Given the description of an element on the screen output the (x, y) to click on. 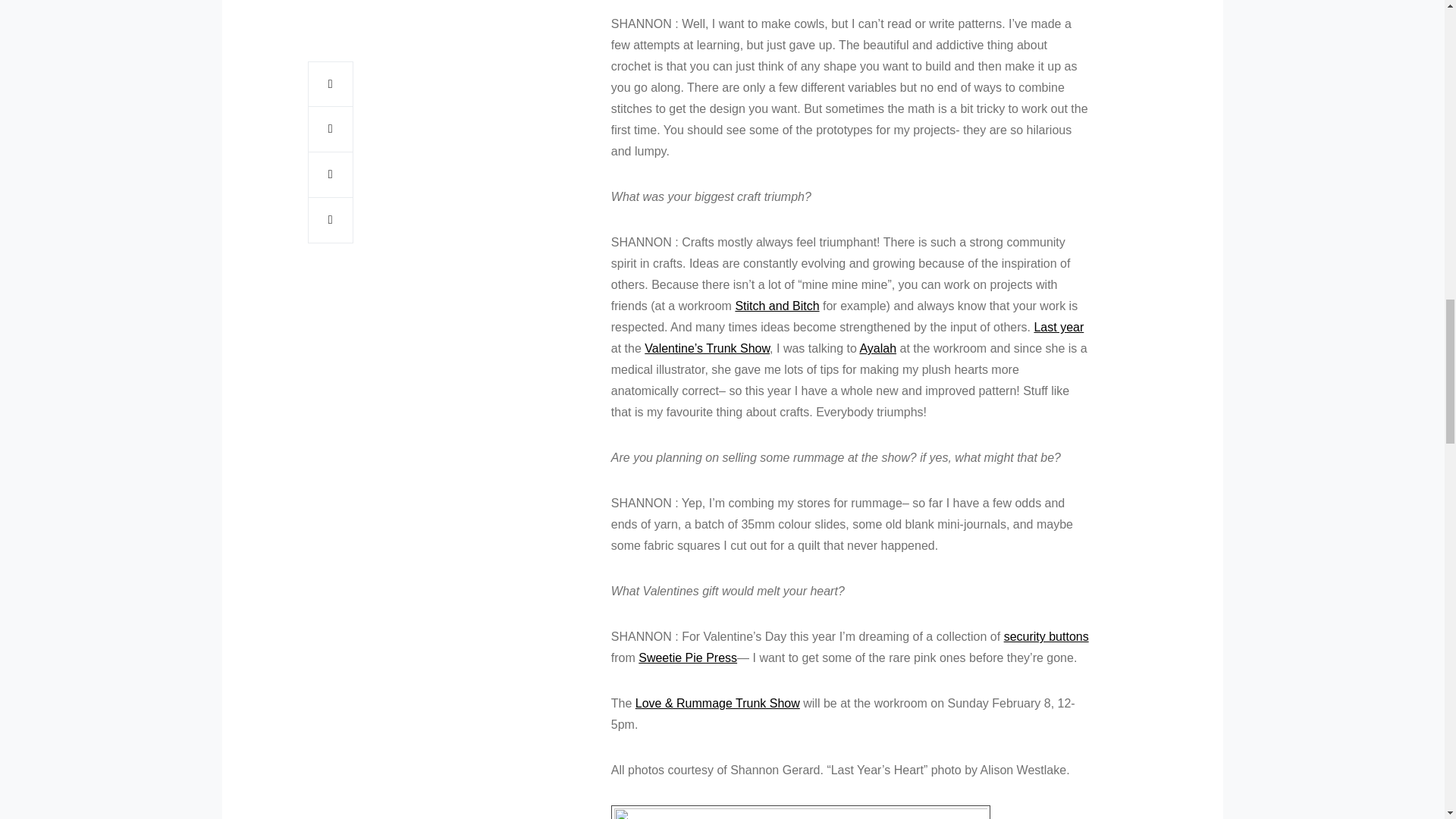
Last year (1058, 327)
Stitch and Bitch (776, 305)
